Given the description of an element on the screen output the (x, y) to click on. 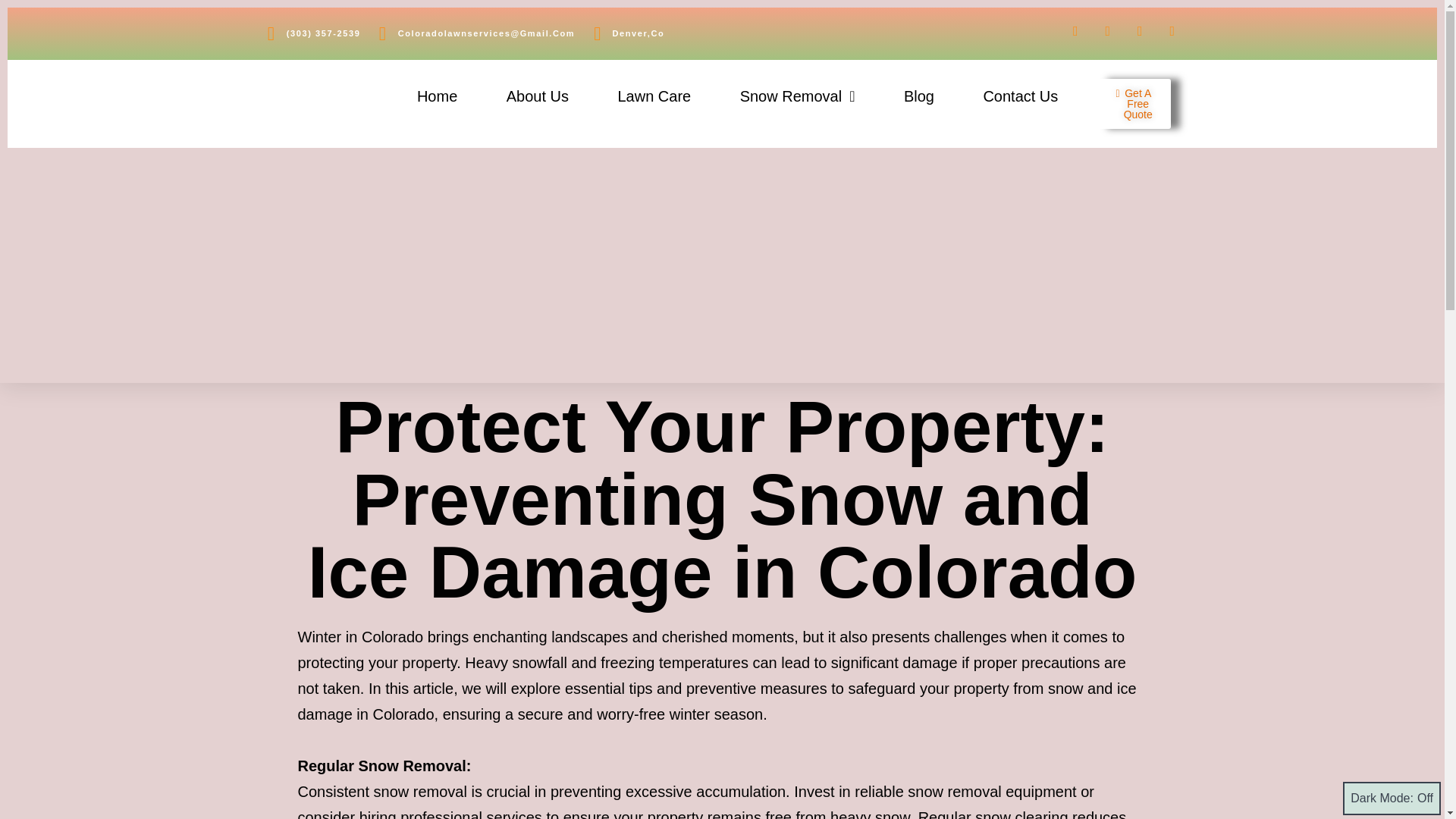
About Us (537, 95)
Contact Us (1019, 95)
Get A Free Quote (1133, 103)
Snow Removal (796, 95)
Home (437, 95)
Lawn Care (653, 95)
Blog (918, 95)
